Given the description of an element on the screen output the (x, y) to click on. 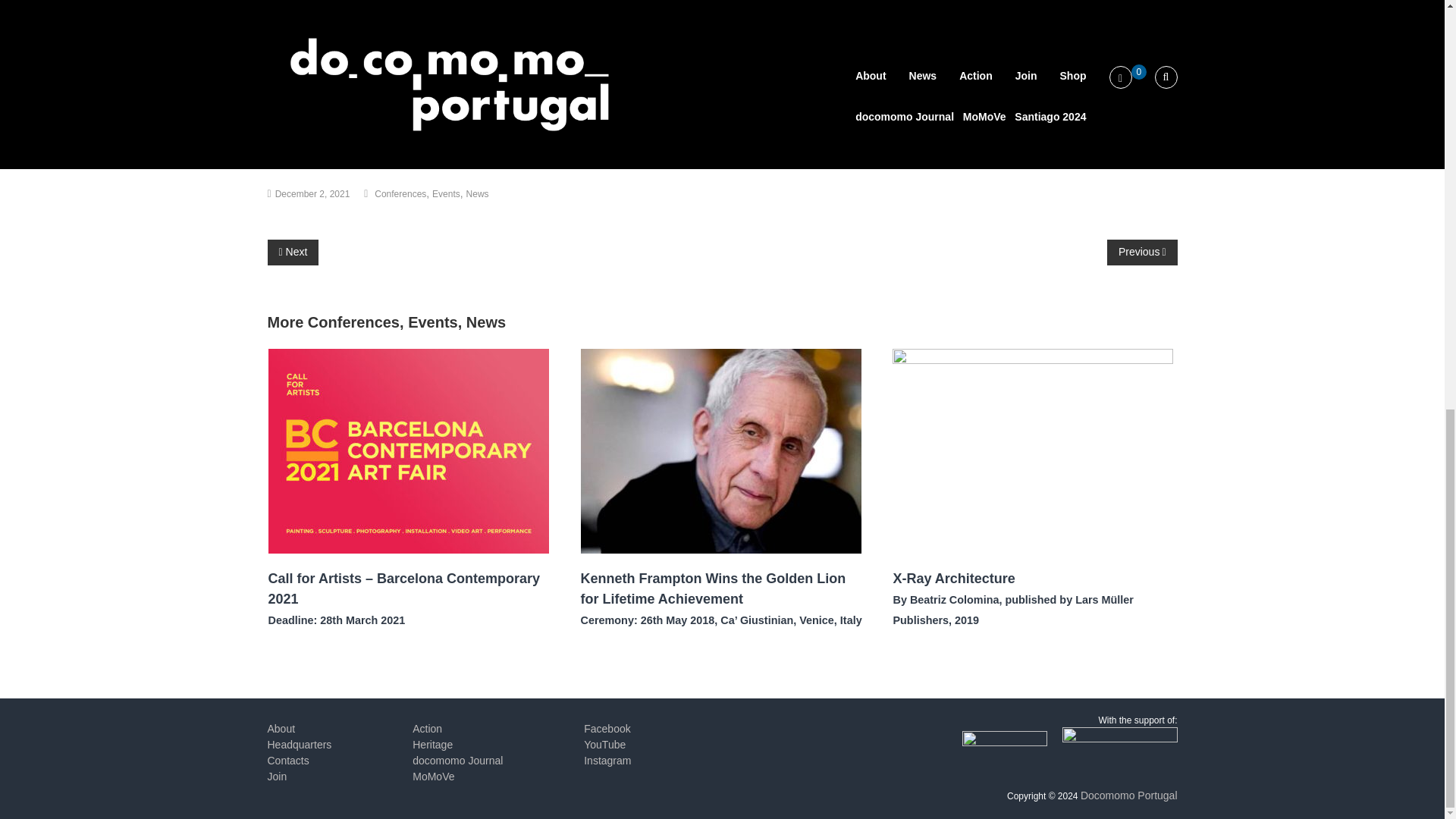
Twitter (311, 155)
Pinterest (340, 155)
Facebook (281, 155)
Copy Link (371, 155)
